Given the description of an element on the screen output the (x, y) to click on. 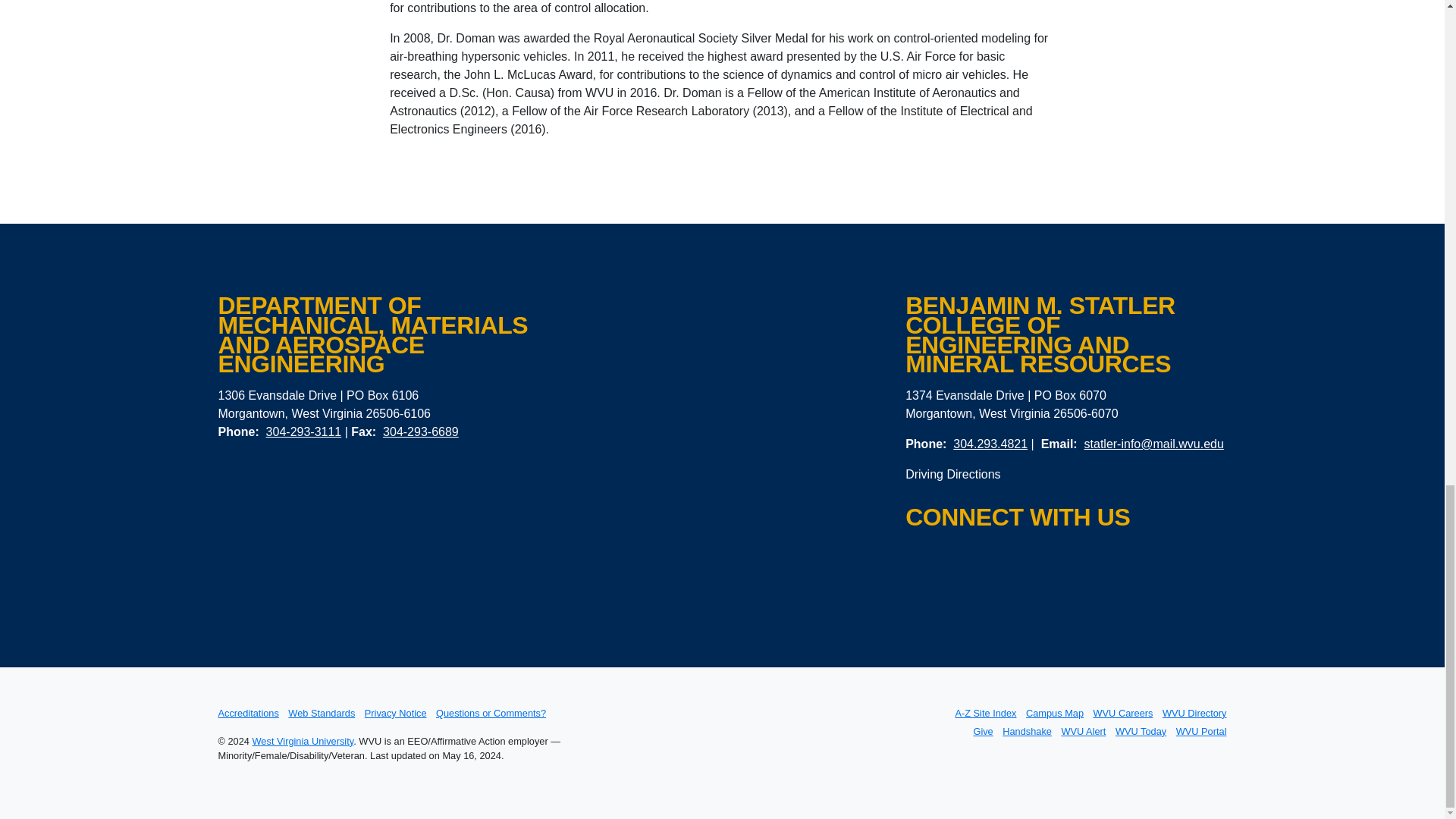
WVU Careers (1123, 712)
Give (982, 730)
WVU Alert (1083, 730)
A-Z Site Index (985, 712)
Web Standards (321, 712)
Questions or Comments? (490, 712)
WVU Today (1140, 730)
304-293-6689 (420, 431)
Privacy Notice (395, 712)
Accreditations (248, 712)
